Given the description of an element on the screen output the (x, y) to click on. 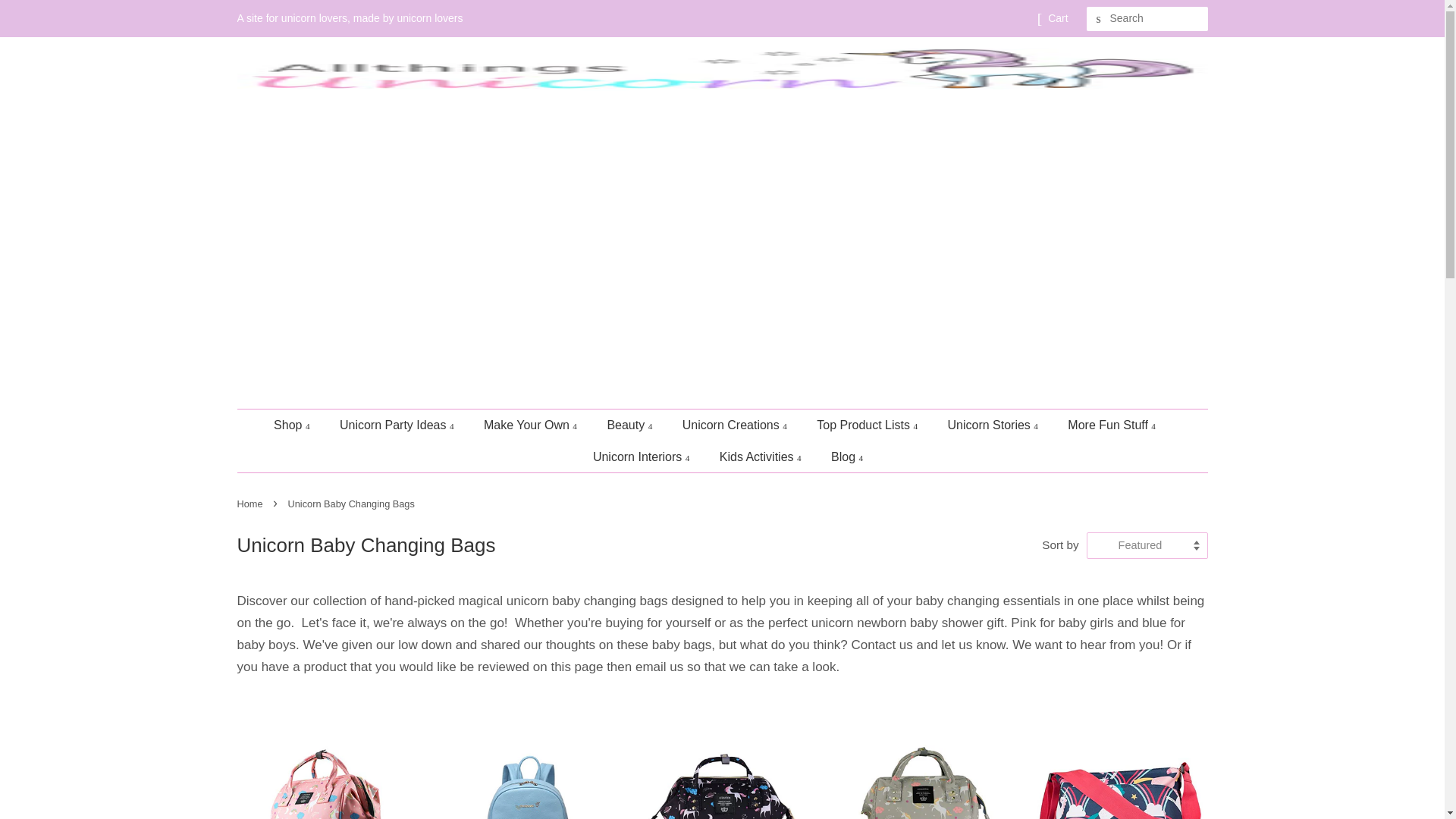
Search (1097, 18)
Cart (1057, 18)
Back to the frontpage (250, 503)
